Given the description of an element on the screen output the (x, y) to click on. 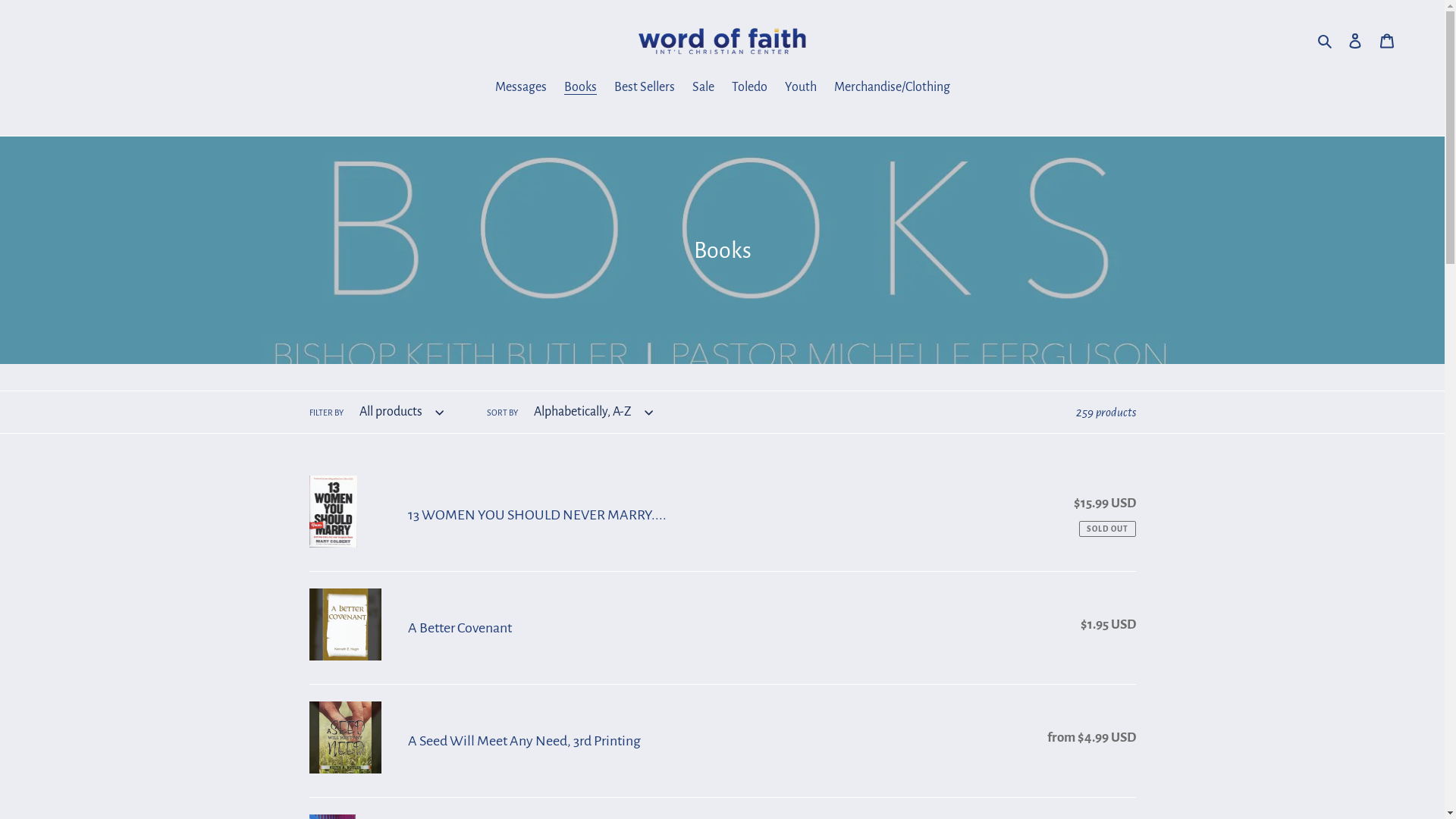
Search Element type: text (1325, 40)
Merchandise/Clothing Element type: text (891, 88)
Books Element type: text (580, 88)
Log in Element type: text (1355, 40)
Youth Element type: text (799, 88)
13 WOMEN YOU SHOULD NEVER MARRY.... Element type: text (722, 514)
A Seed Will Meet Any Need, 3rd Printing Element type: text (722, 740)
Sale Element type: text (702, 88)
Toledo Element type: text (748, 88)
A Better Covenant Element type: text (722, 627)
Cart Element type: text (1386, 40)
Messages Element type: text (519, 88)
Best Sellers Element type: text (644, 88)
